Given the description of an element on the screen output the (x, y) to click on. 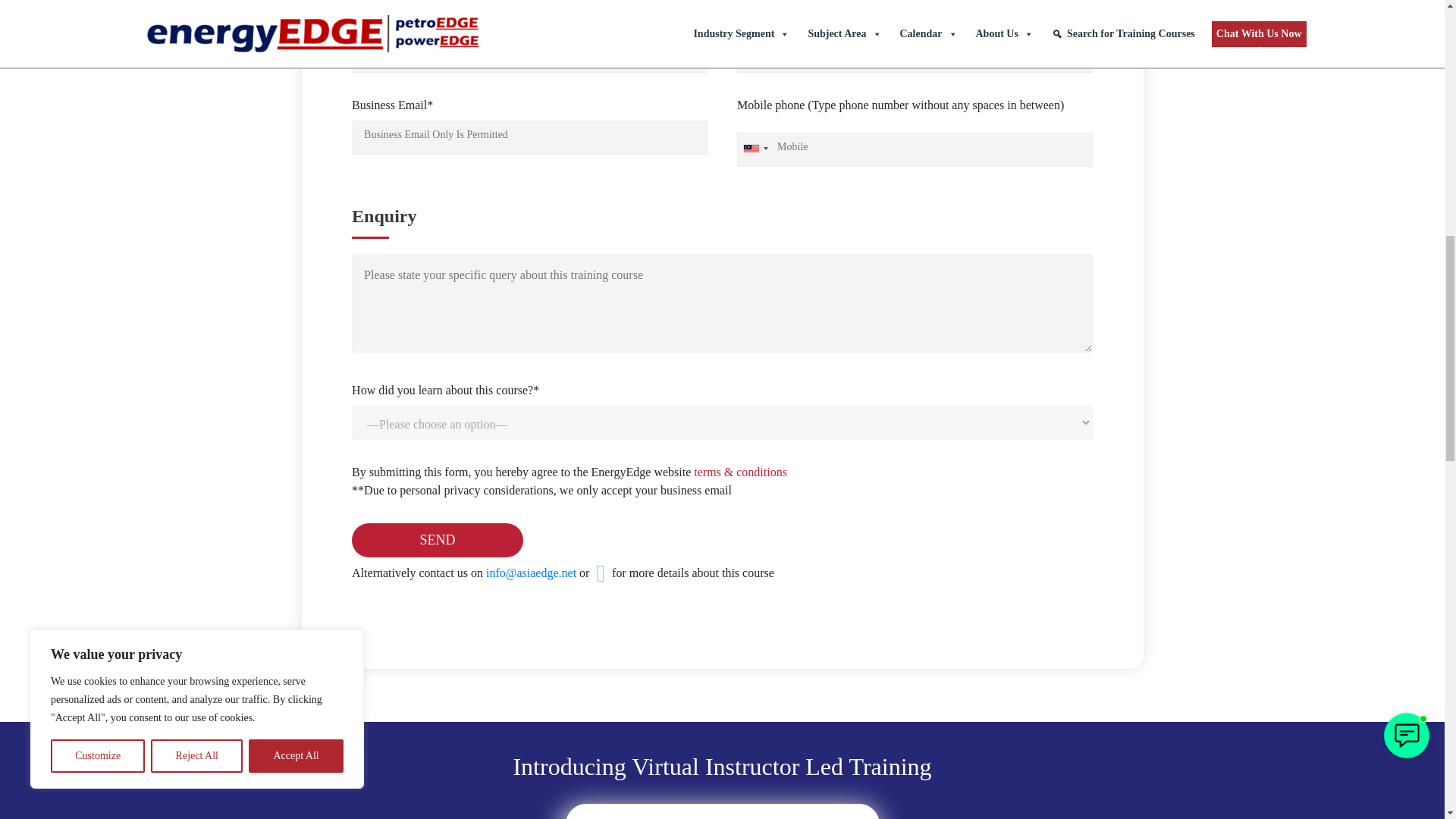
Send (437, 540)
